Given the description of an element on the screen output the (x, y) to click on. 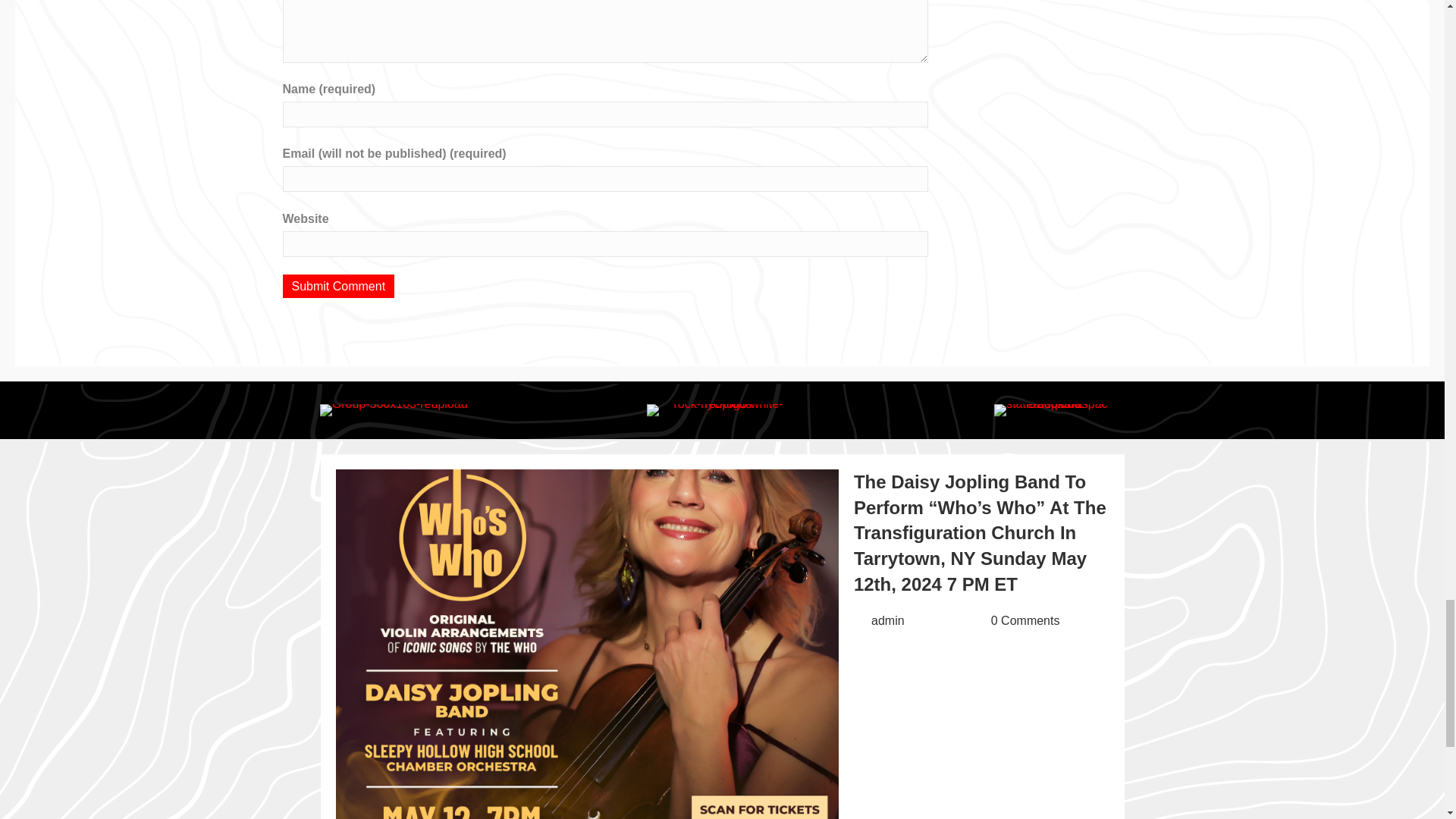
rock-nyc-logo-white-reupload (721, 410)
Group-500x103-reupload (393, 410)
Submit Comment (338, 286)
static1.squarespace-500x371-reupload (1051, 410)
Submit Comment (338, 286)
